Given the description of an element on the screen output the (x, y) to click on. 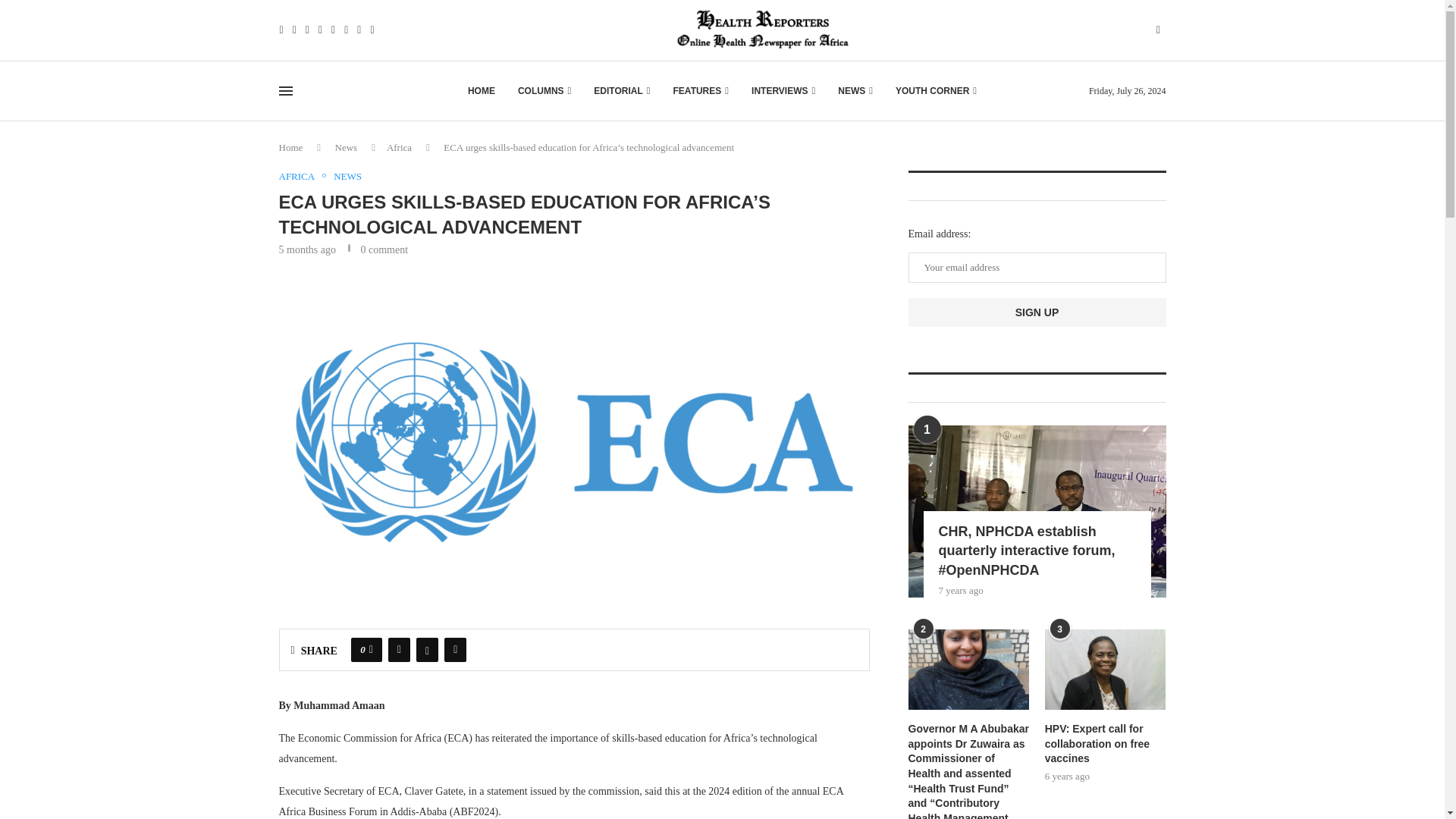
COLUMNS (544, 90)
FEATURES (700, 90)
EDITORIAL (621, 90)
INTERVIEWS (783, 90)
Sign up (1037, 312)
YOUTH CORNER (935, 90)
